Given the description of an element on the screen output the (x, y) to click on. 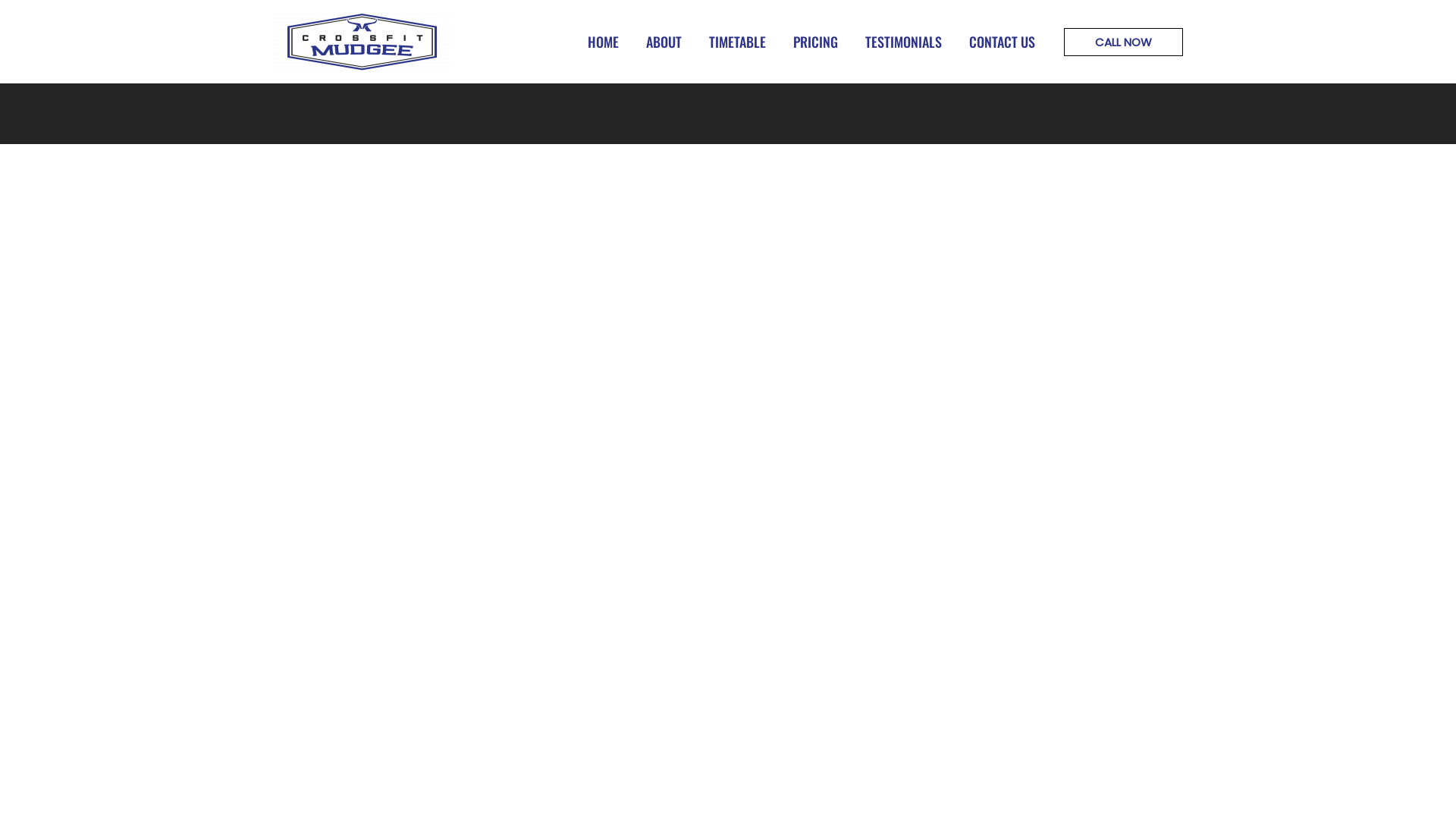
CONTACT US Element type: text (1001, 41)
HOME Element type: text (603, 41)
ABOUT Element type: text (663, 41)
CALL NOW Element type: text (1123, 41)
TESTIMONIALS Element type: text (903, 41)
PRICING Element type: text (815, 41)
TIMETABLE Element type: text (737, 41)
